Given the description of an element on the screen output the (x, y) to click on. 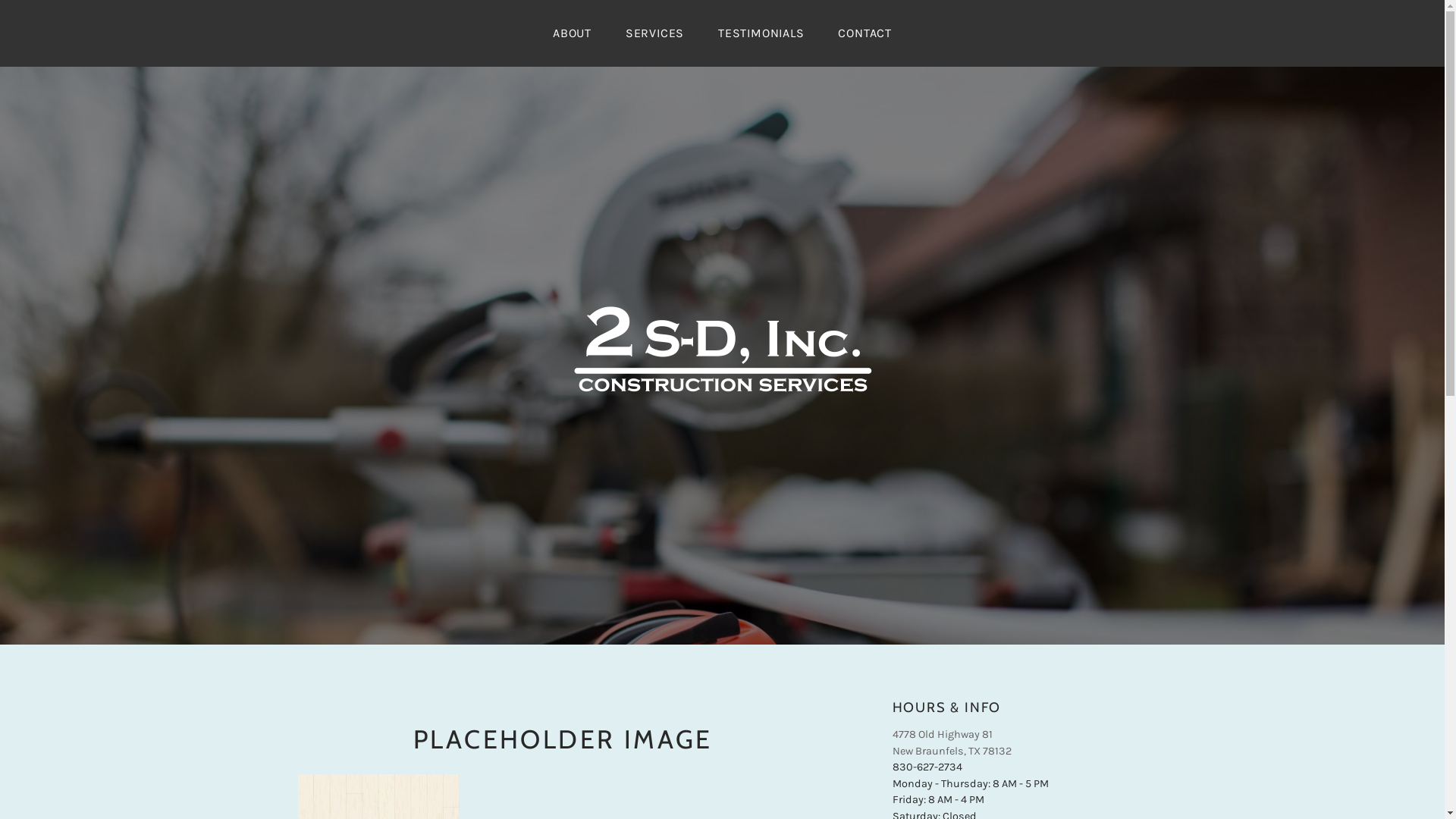
TESTIMONIALS Element type: text (760, 33)
SERVICES Element type: text (654, 33)
4778 Old Highway 81
New Braunfels, TX 78132 Element type: text (950, 743)
CONTACT Element type: text (864, 33)
ABOUT Element type: text (571, 33)
RENOVATION, REMODEL & RESTORATION CONTRACTORS | 2 S-D, INC. Element type: text (746, 603)
